Given the description of an element on the screen output the (x, y) to click on. 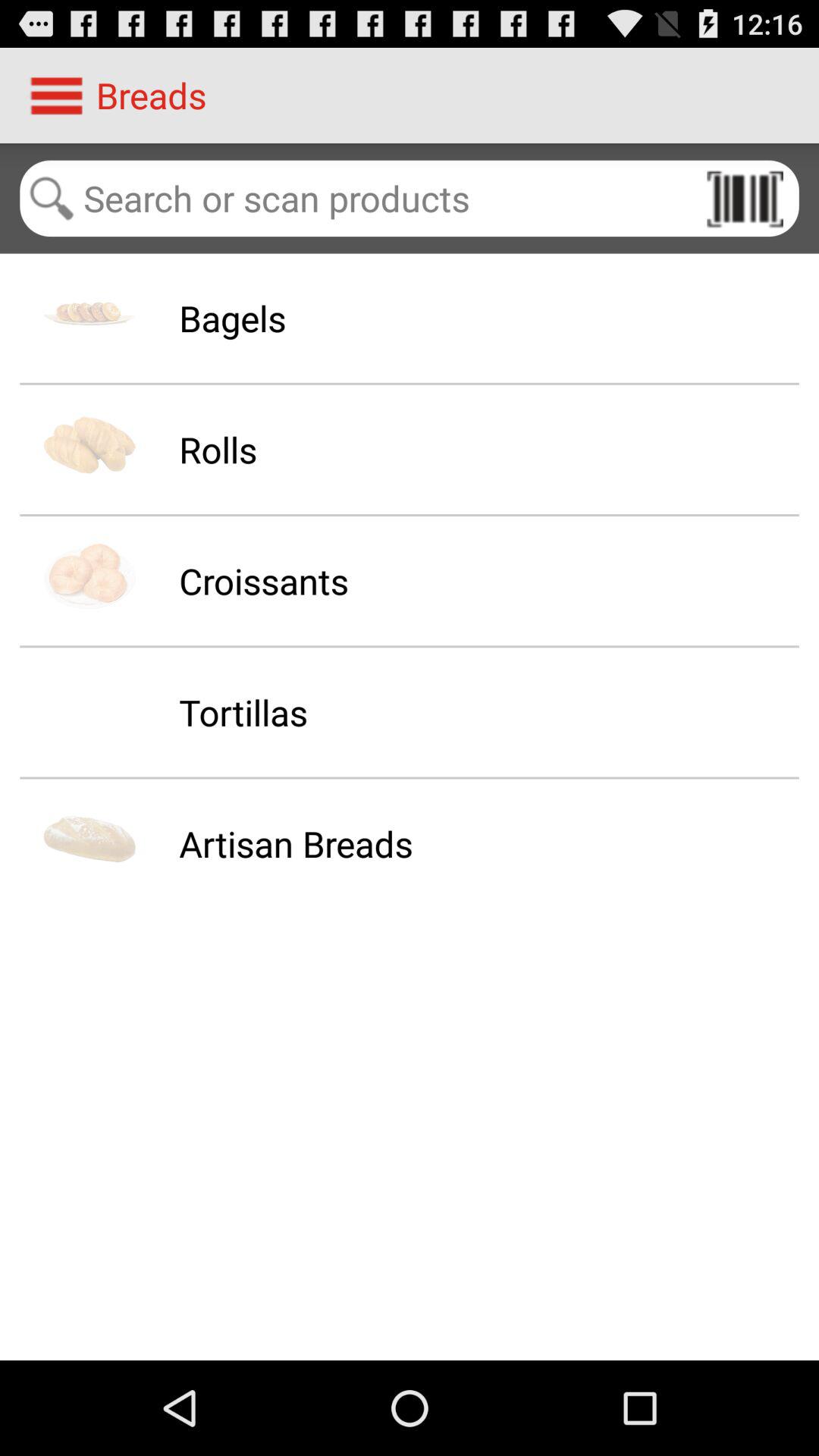
tap item above tortillas app (263, 580)
